Given the description of an element on the screen output the (x, y) to click on. 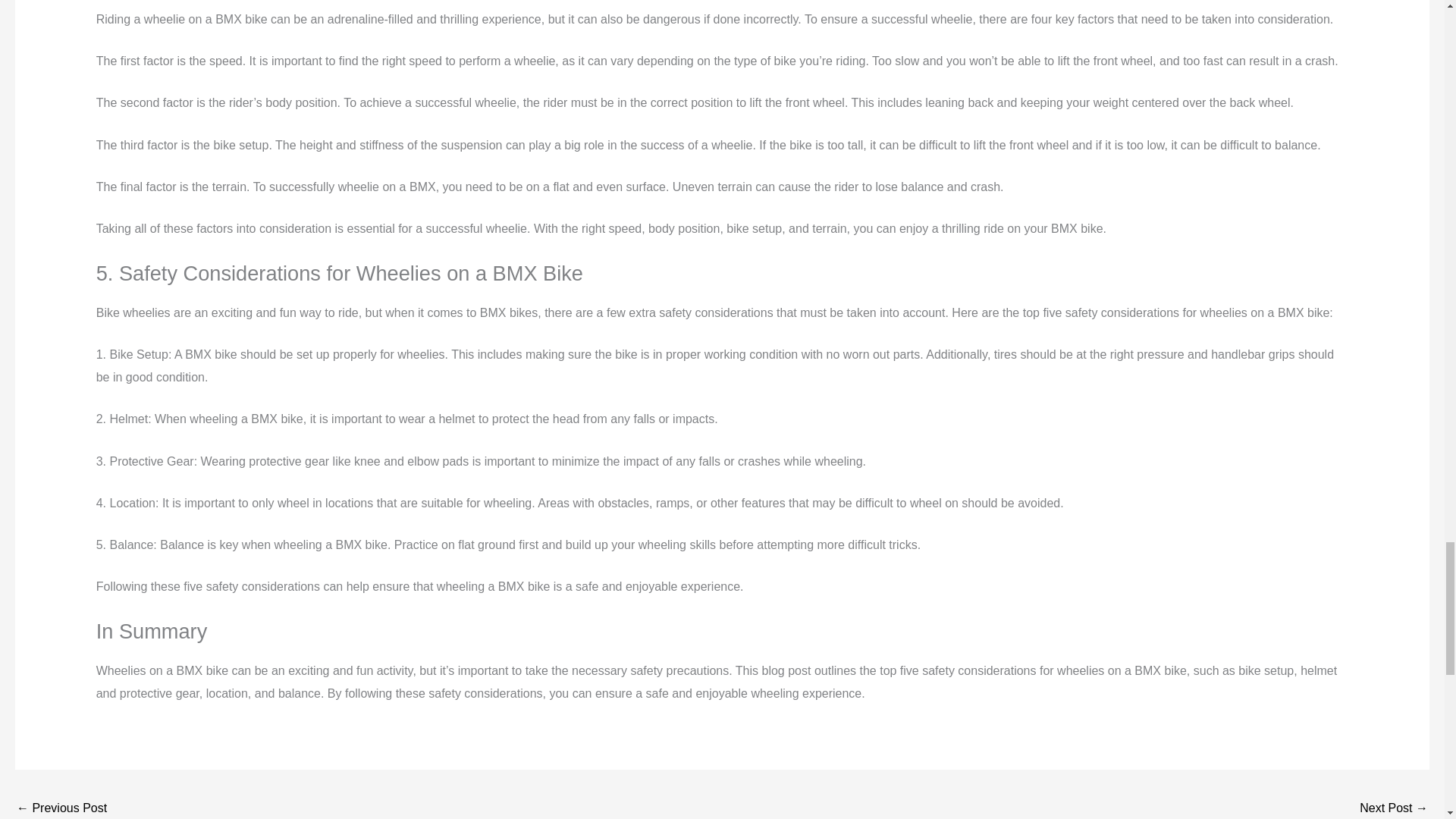
5 Reasons Why Bicycle Lights Can Be Pricey (1393, 807)
Mastering the Most Difficult BMX Bike Tricks (61, 807)
